Given the description of an element on the screen output the (x, y) to click on. 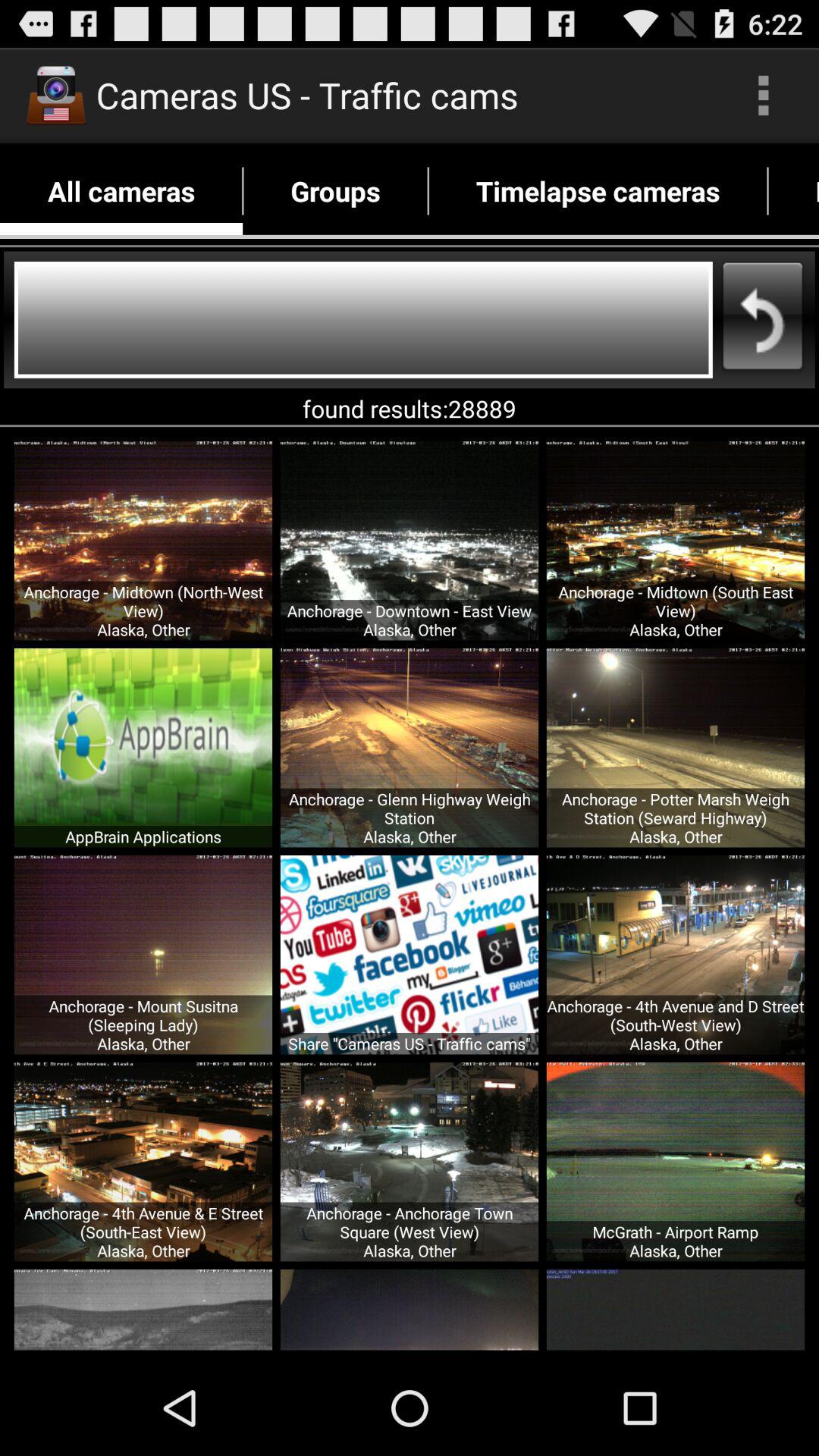
click on the fourth image in third row from left (675, 1162)
select the image first row second image (409, 540)
click on app brain applications in the second row (142, 747)
click on third row first image (142, 1162)
click the camera icon (55, 95)
